Given the description of an element on the screen output the (x, y) to click on. 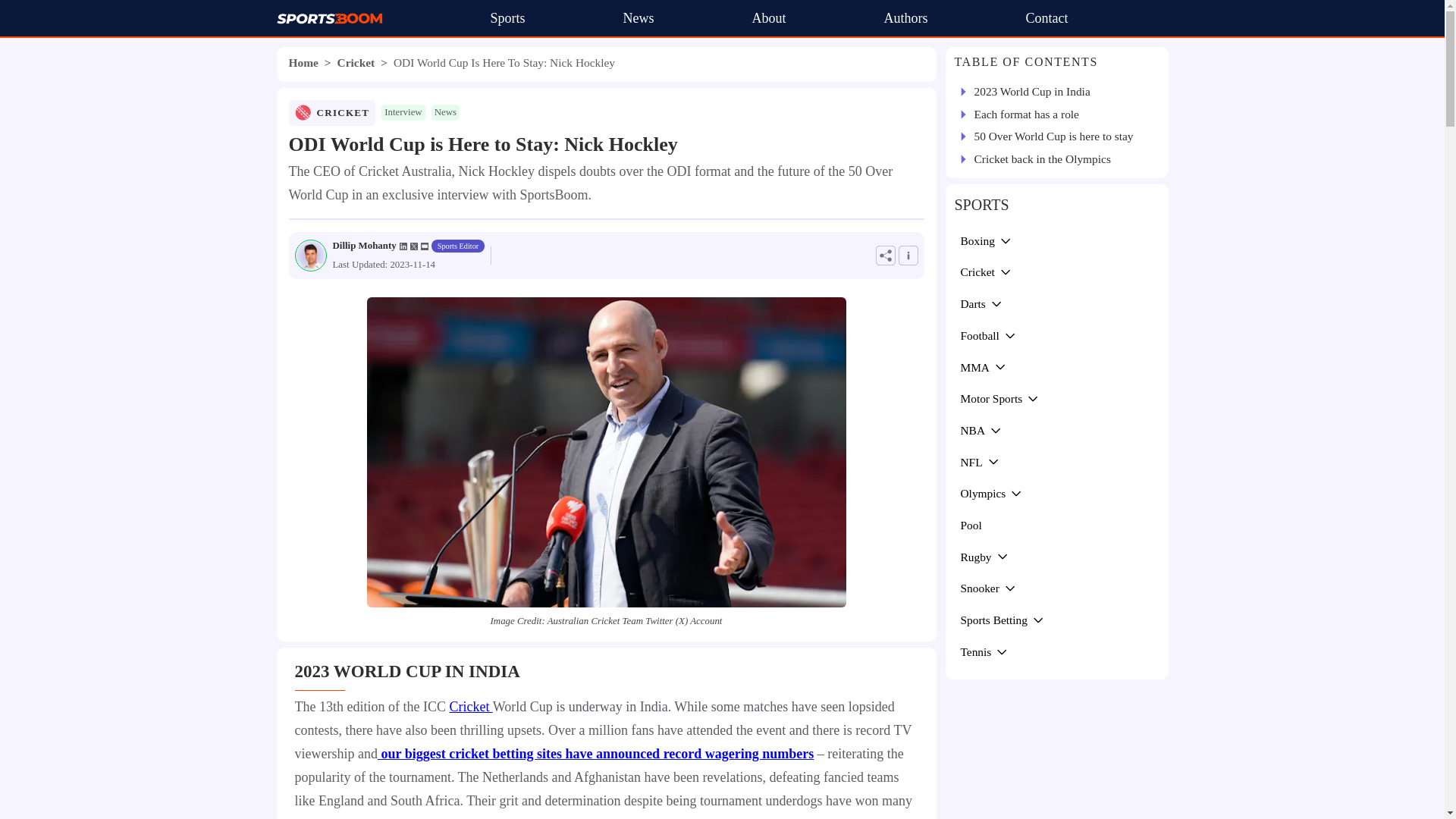
Authors (905, 18)
Cricket (470, 706)
News (638, 18)
Sports (507, 18)
About (768, 18)
Dillip Mohanty (363, 245)
Contact (1046, 18)
CRICKET (343, 112)
Home (302, 62)
